Given the description of an element on the screen output the (x, y) to click on. 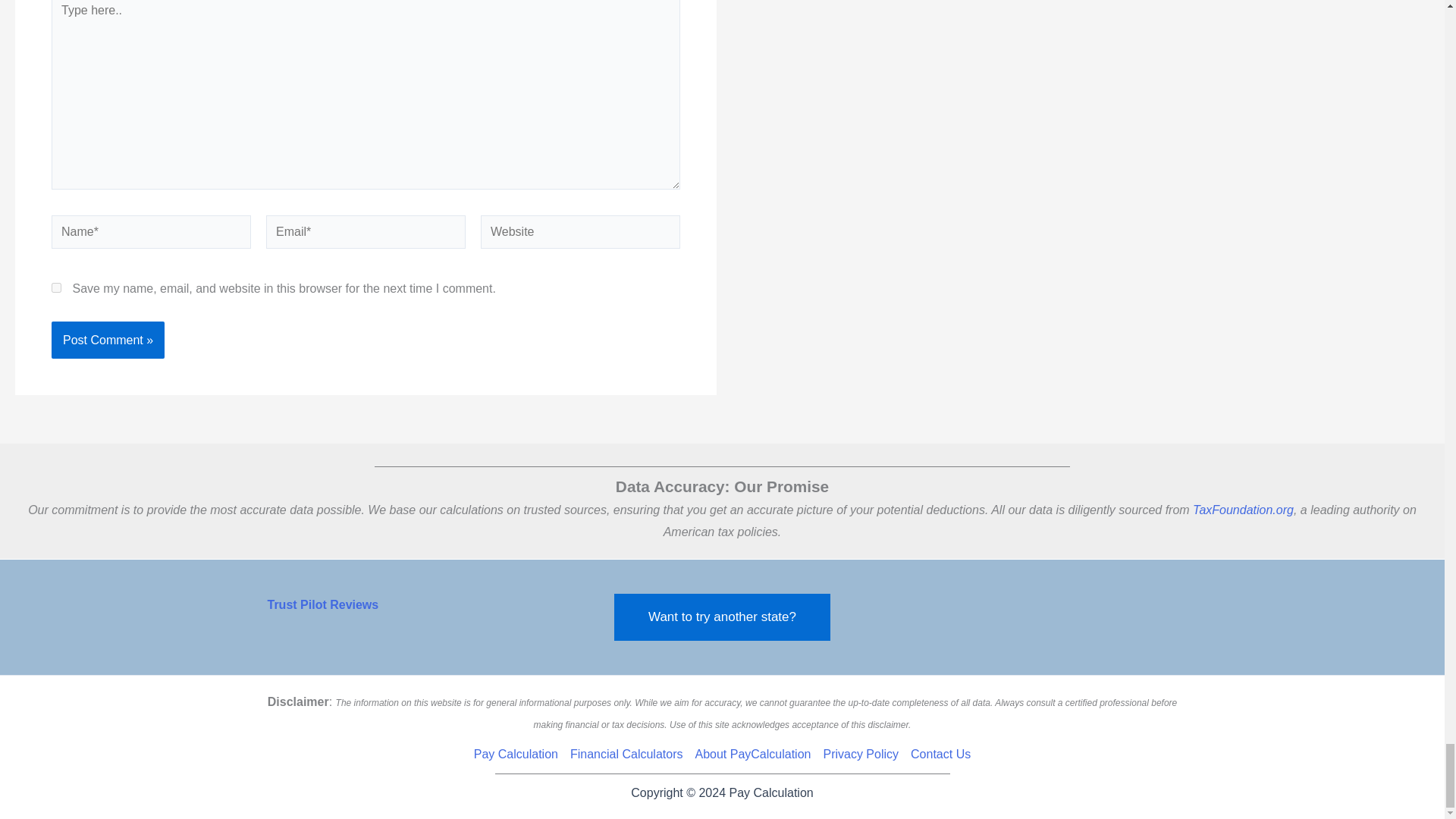
yes (55, 287)
Want to try another state? (721, 616)
Trust Pilot Reviews (322, 604)
Contact Us (937, 753)
Pay Calculation (519, 753)
About PayCalculation (752, 753)
TaxFoundation.org (1243, 509)
Privacy Policy (860, 753)
Financial Calculators (626, 753)
